Given the description of an element on the screen output the (x, y) to click on. 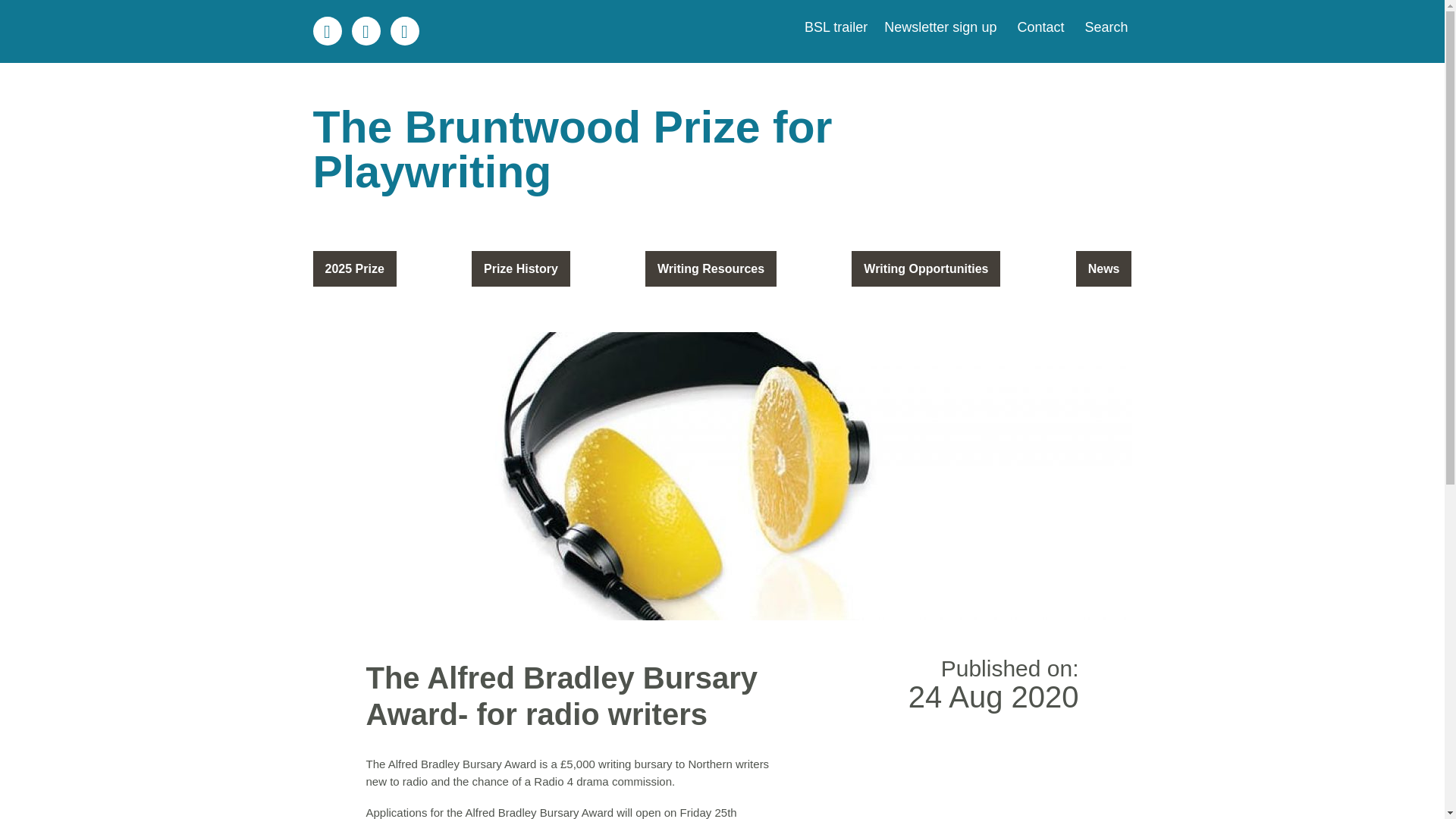
Share this page (326, 30)
Share on Twitter (366, 30)
2025 Prize (354, 268)
BSL trailer (836, 27)
Search (1103, 27)
Writing Opportunities (925, 268)
The Bruntwood Prize for Playwriting (722, 149)
News (1103, 268)
Prize History (520, 268)
Writing Resources (710, 268)
Newsletter sign up (937, 27)
Share on Facebook (404, 30)
Contact (1038, 27)
